Given the description of an element on the screen output the (x, y) to click on. 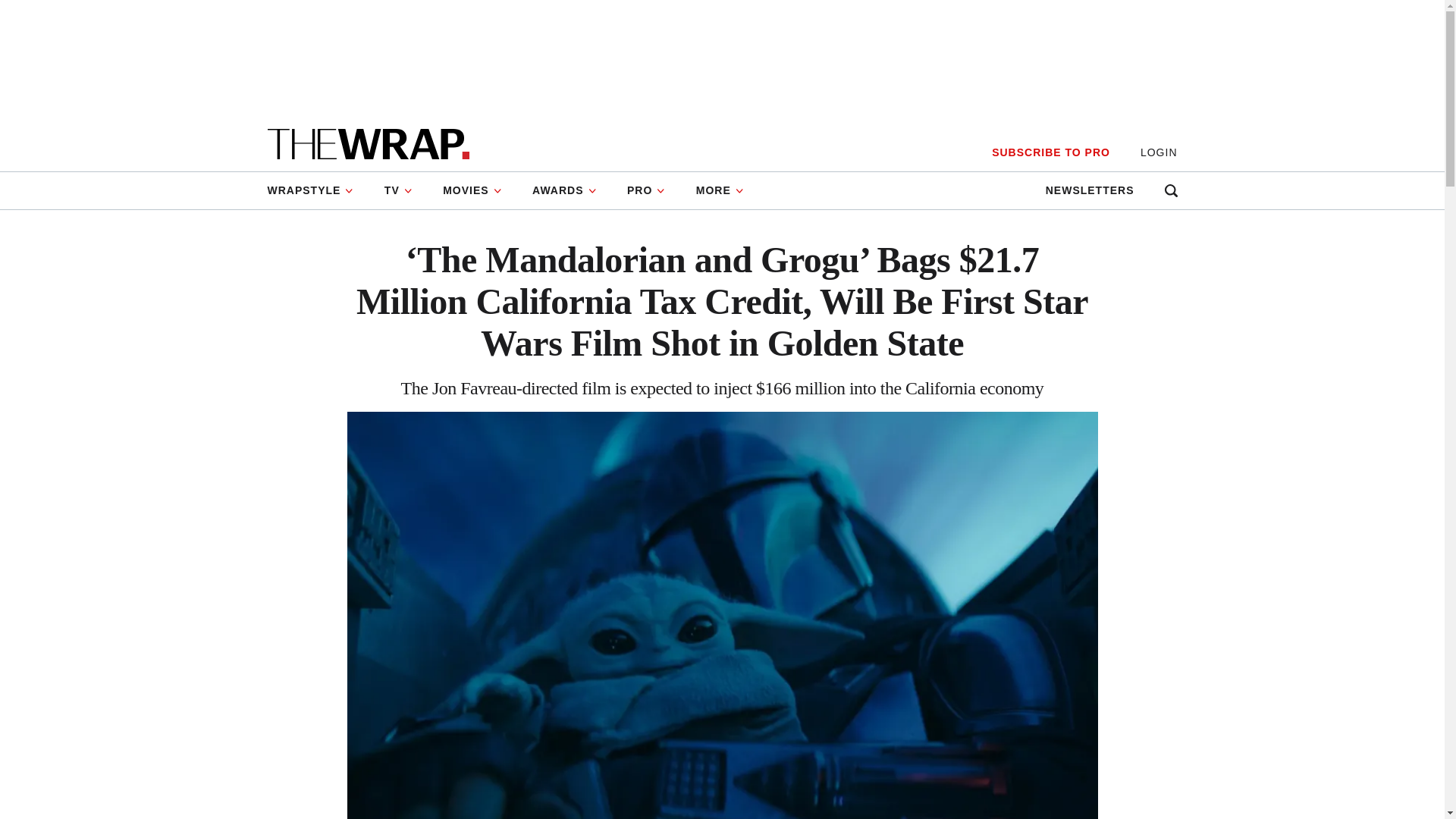
MOVIES (472, 190)
SUBSCRIBE TO PRO (1050, 152)
AWARDS (563, 190)
LOGIN (1158, 152)
WRAPSTYLE (317, 190)
TV (398, 190)
PRO (646, 190)
MORE (719, 190)
